Given the description of an element on the screen output the (x, y) to click on. 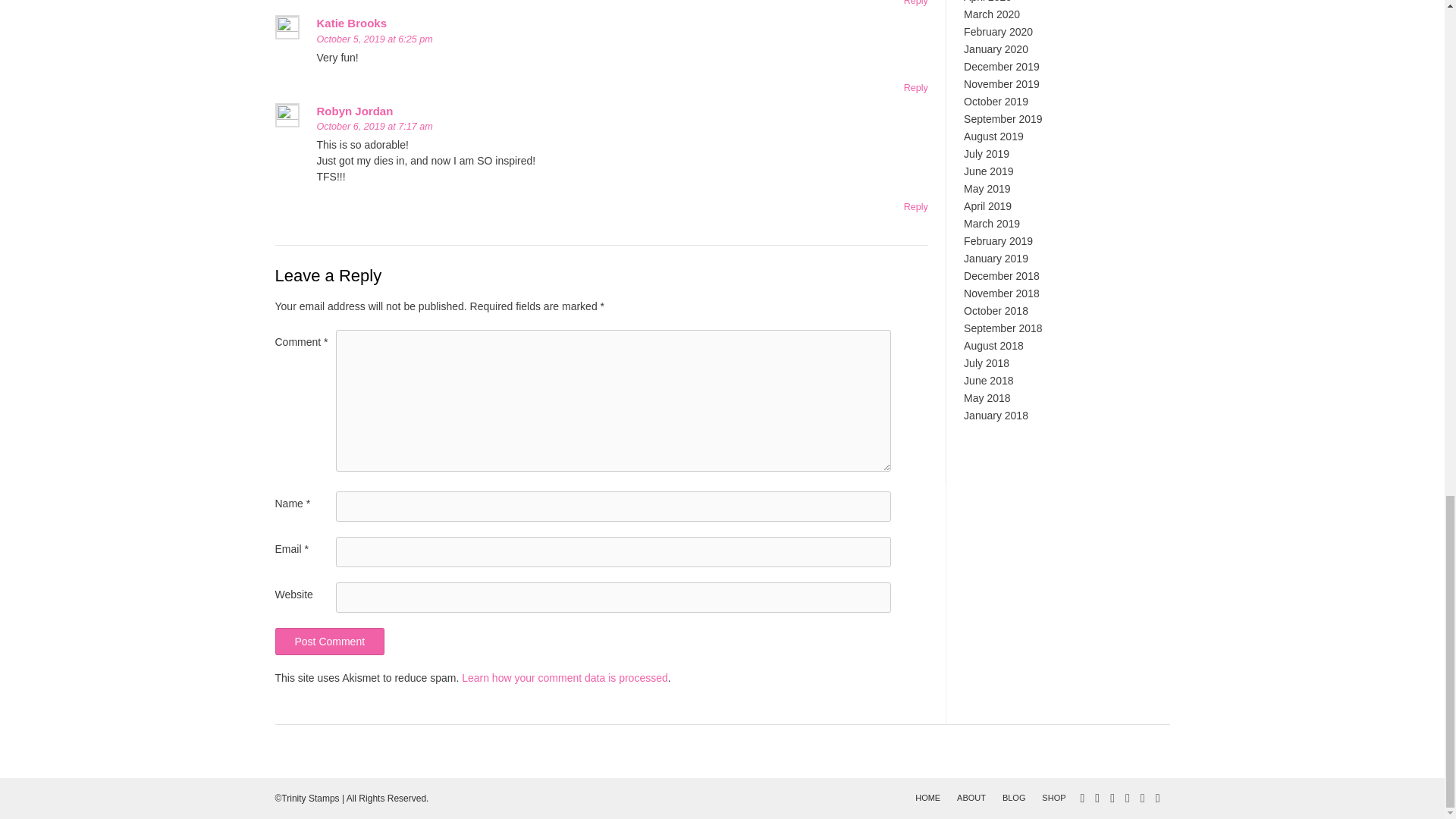
Post Comment (329, 641)
October 5, 2019 at 6:25 pm (374, 39)
Katie Brooks (352, 22)
Reply (916, 2)
